Given the description of an element on the screen output the (x, y) to click on. 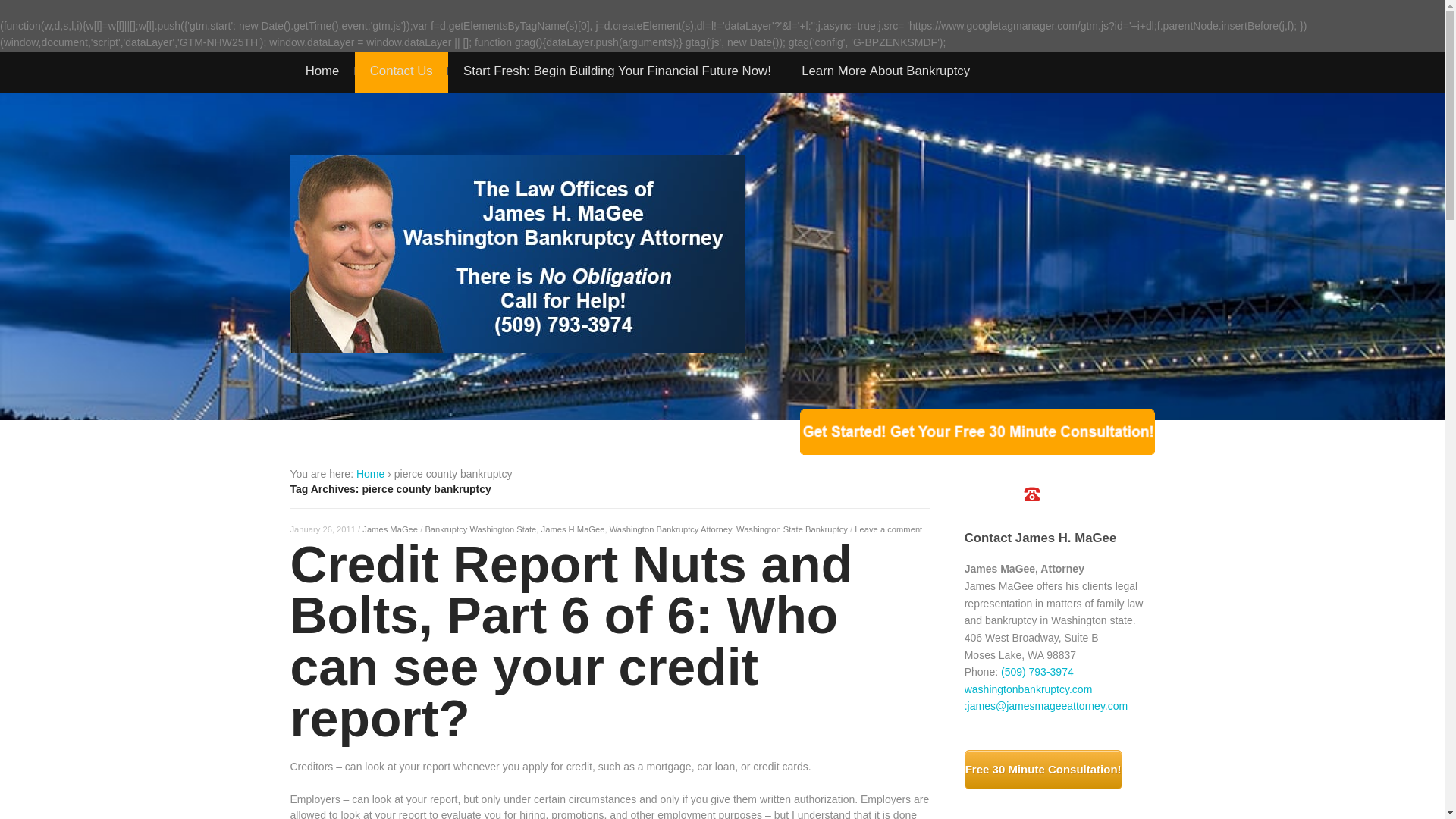
Contact Us (400, 71)
James H MaGee (573, 528)
James MaGee (389, 528)
Washington Bankruptcy Attorney (671, 528)
Start Fresh: Begin Building Your Financial Future Now! (617, 71)
Home (370, 473)
Bankruptcy Washington State (480, 528)
washingtonbankruptcy.com (1028, 689)
Home (322, 71)
Washington State Bankruptcy (791, 528)
Learn More About Bankruptcy (885, 71)
Leave a comment (887, 528)
